Given the description of an element on the screen output the (x, y) to click on. 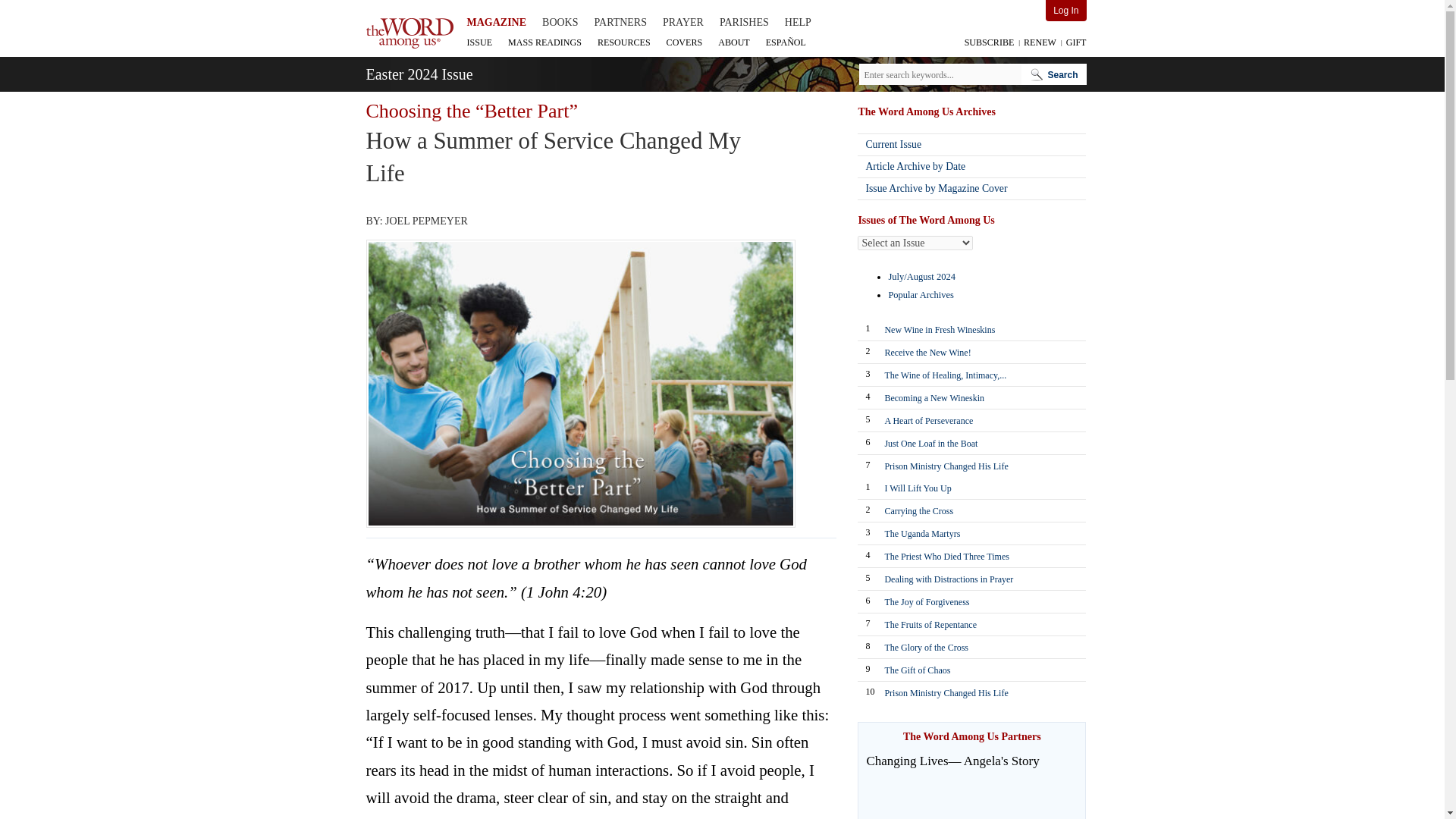
MAGAZINE (497, 22)
ISSUE (480, 42)
Becoming a New Wineskin (975, 396)
GIFT (1074, 42)
RESOURCES (623, 42)
RENEW (1038, 42)
COVERS (684, 42)
HELP (797, 22)
Log In (1065, 10)
The Wine of Healing, Intimacy,... (975, 373)
Home (408, 33)
Popular Archives (920, 294)
ABOUT (733, 42)
PARISHES (743, 22)
Receive the New Wine! (975, 351)
